Given the description of an element on the screen output the (x, y) to click on. 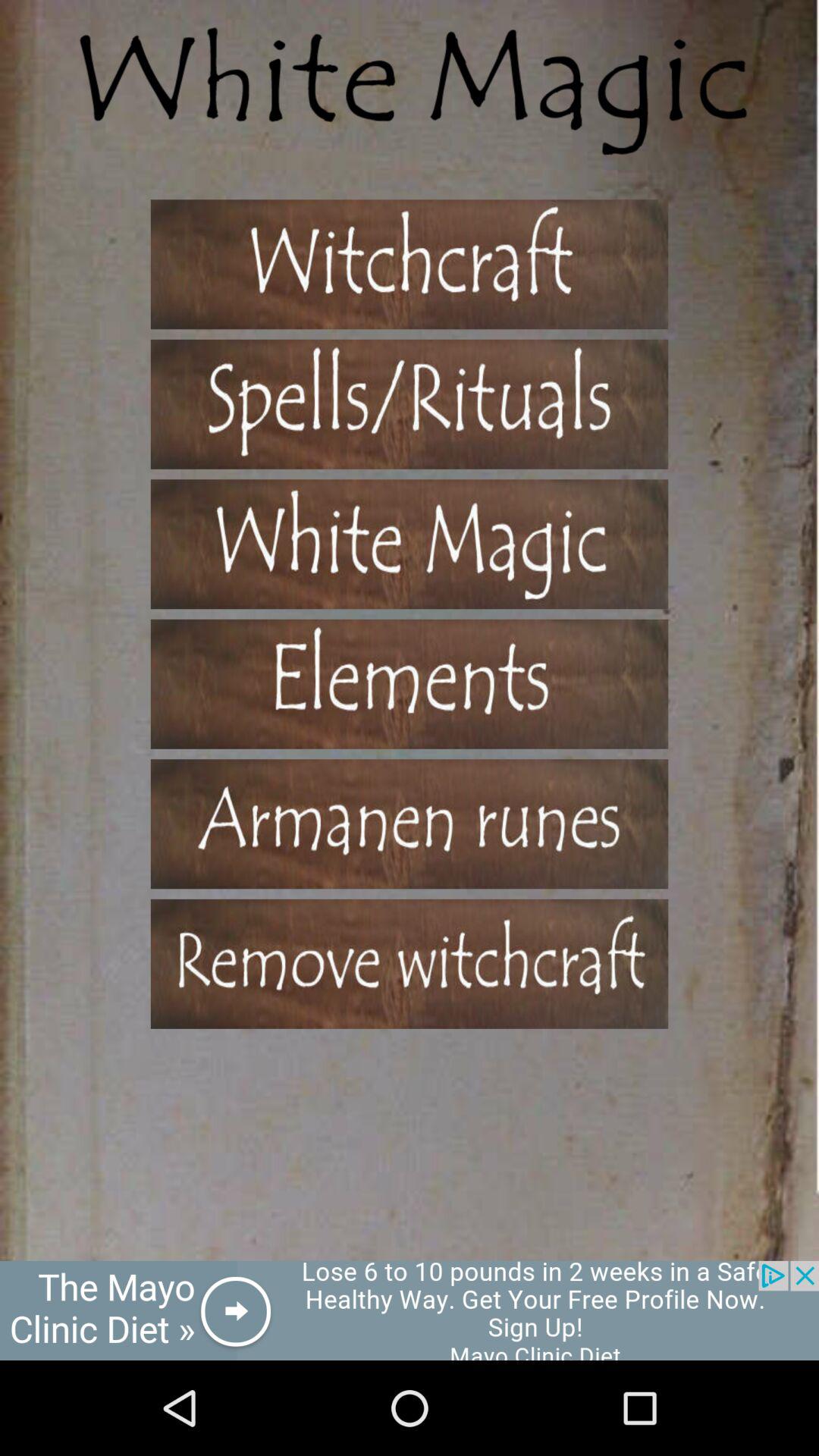
go to the witchcraft page (409, 264)
